Given the description of an element on the screen output the (x, y) to click on. 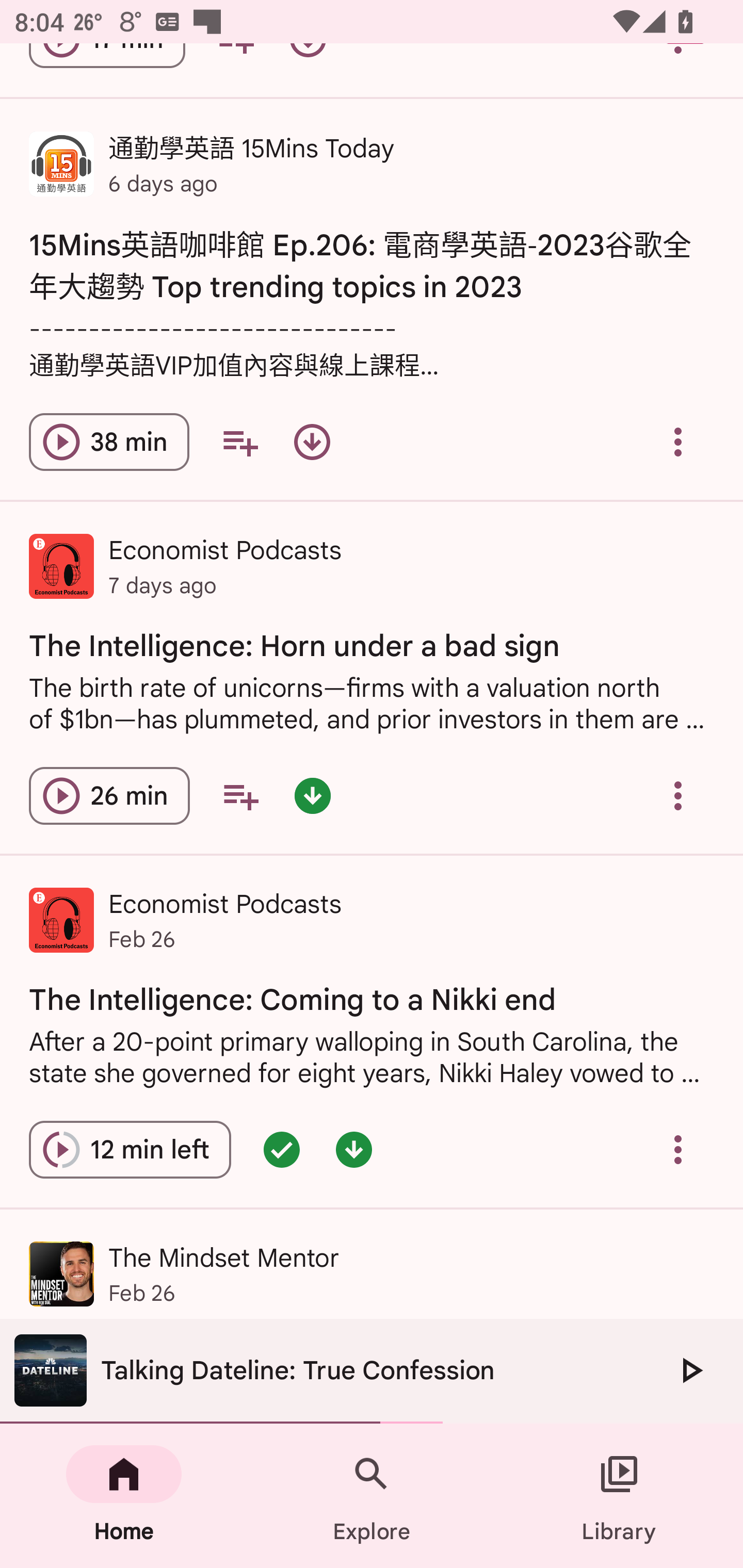
Add to your queue (239, 442)
Download episode (312, 442)
Overflow menu (677, 442)
Add to your queue (240, 795)
Episode downloaded - double tap for options 0.0 (312, 795)
Overflow menu (677, 795)
Episode queued - double tap for options (281, 1150)
Episode downloaded - double tap for options (354, 1150)
Overflow menu (677, 1150)
Play (690, 1370)
Explore (371, 1495)
Library (619, 1495)
